Given the description of an element on the screen output the (x, y) to click on. 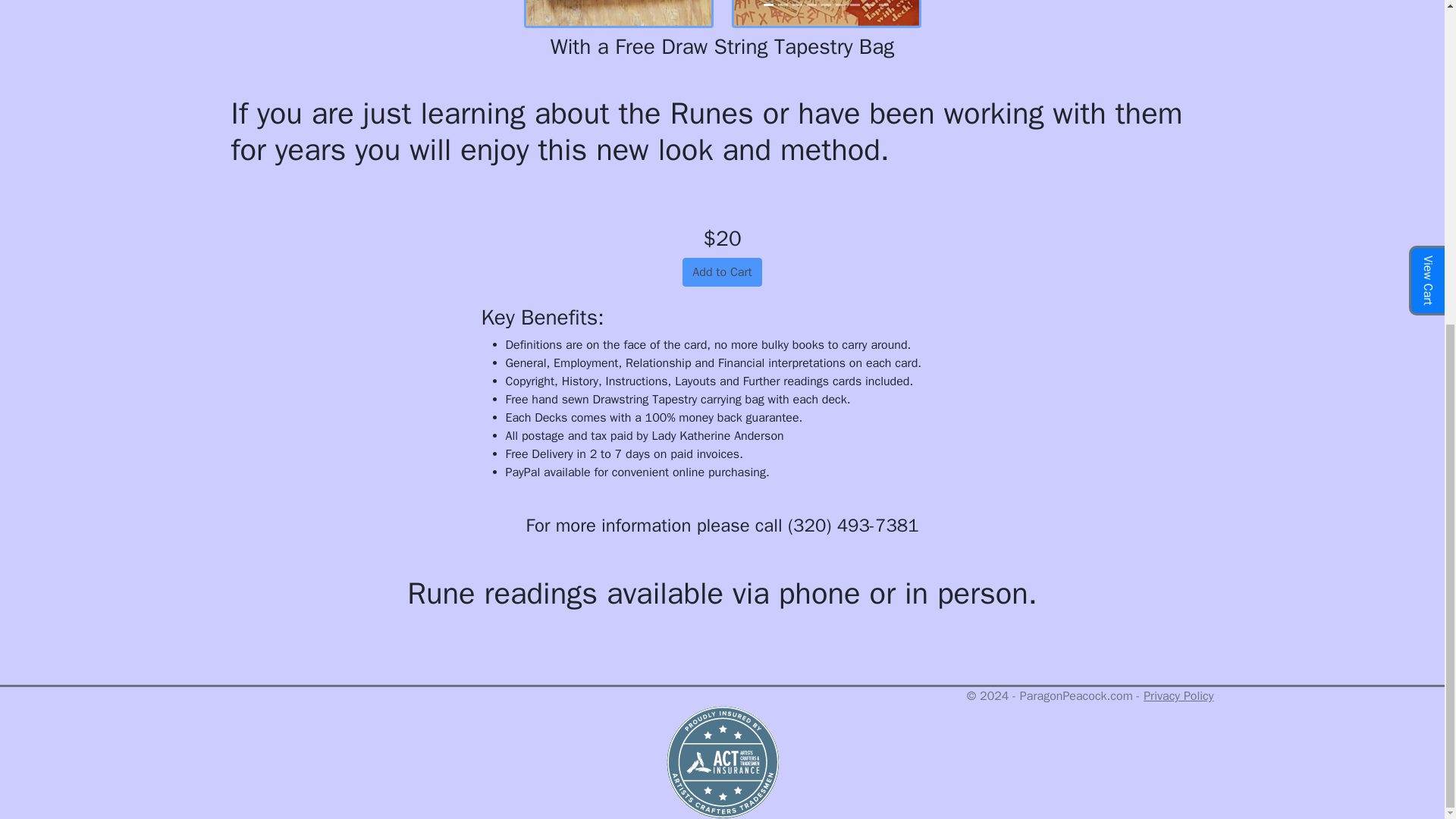
Next (904, 12)
Add to Cart (721, 271)
Privacy Policy (1177, 695)
Add to Cart (721, 271)
Previous (747, 12)
